Given the description of an element on the screen output the (x, y) to click on. 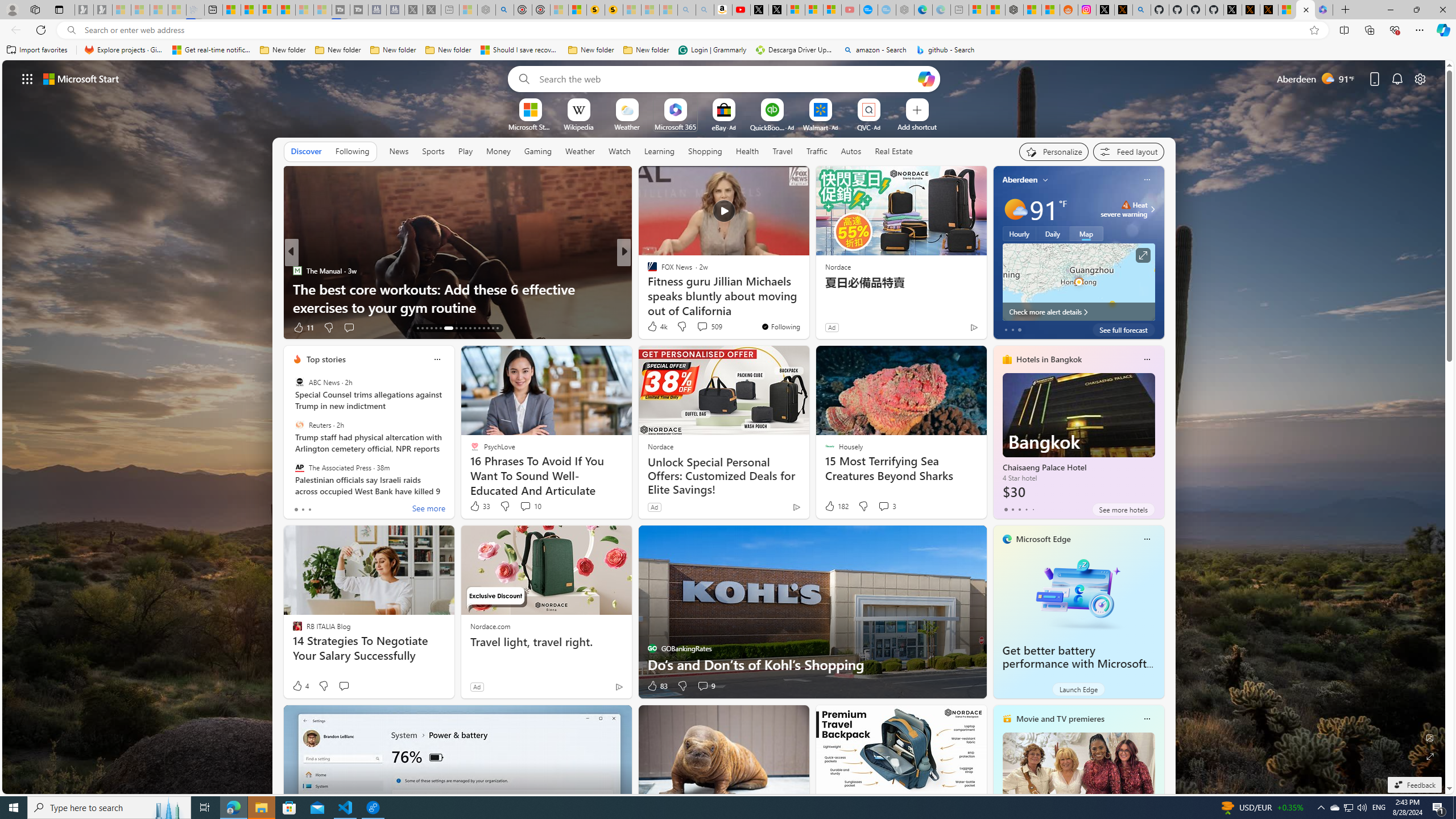
View comments 509 Comment (701, 326)
Shopping (705, 151)
Map (1085, 233)
Watch (619, 151)
View comments 3 Comment (887, 505)
tab-1 (1012, 509)
149 Like (654, 327)
Michelle Starr, Senior Journalist at ScienceAlert (613, 9)
